Given the description of an element on the screen output the (x, y) to click on. 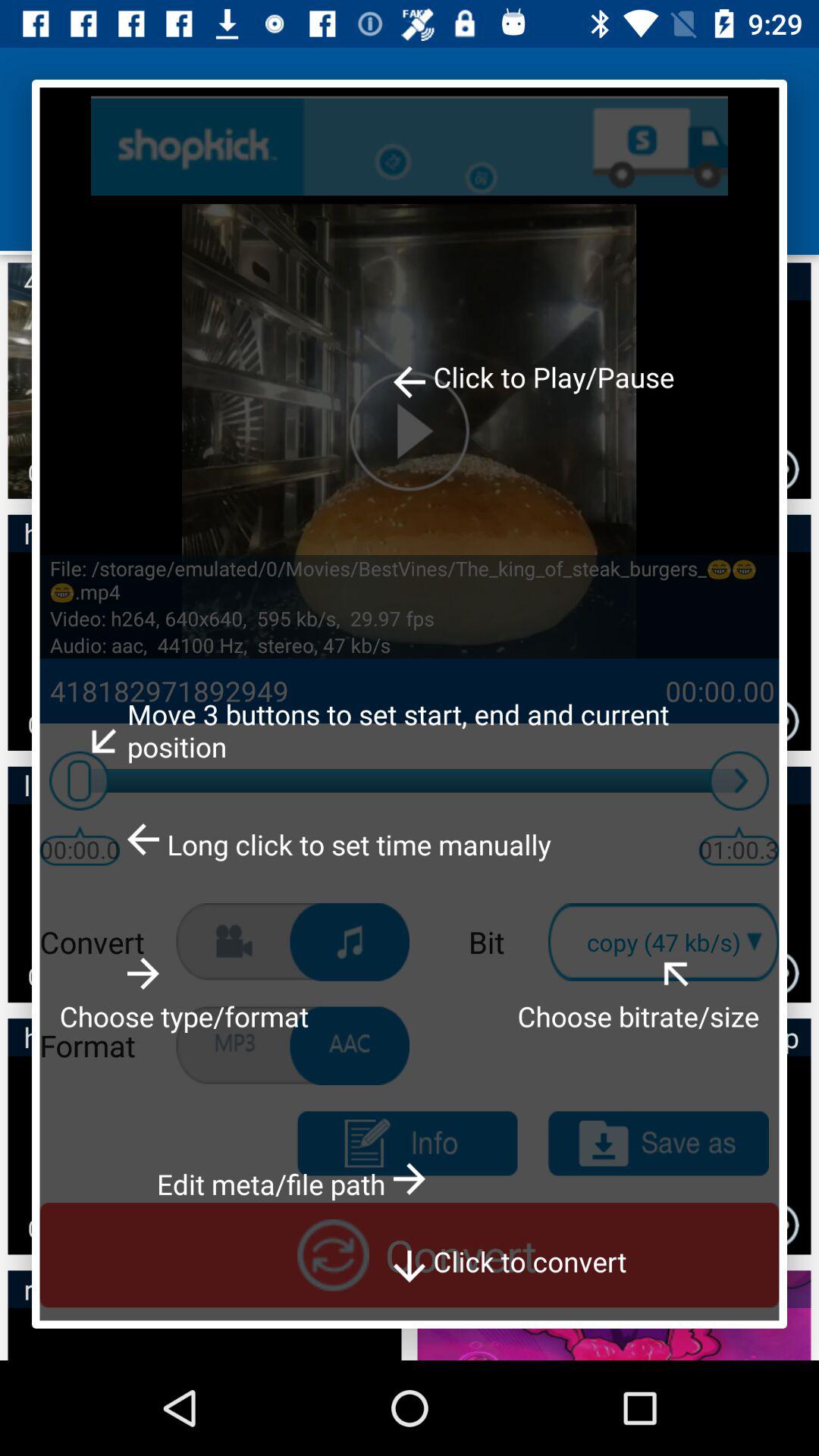
add information (406, 1143)
